Given the description of an element on the screen output the (x, y) to click on. 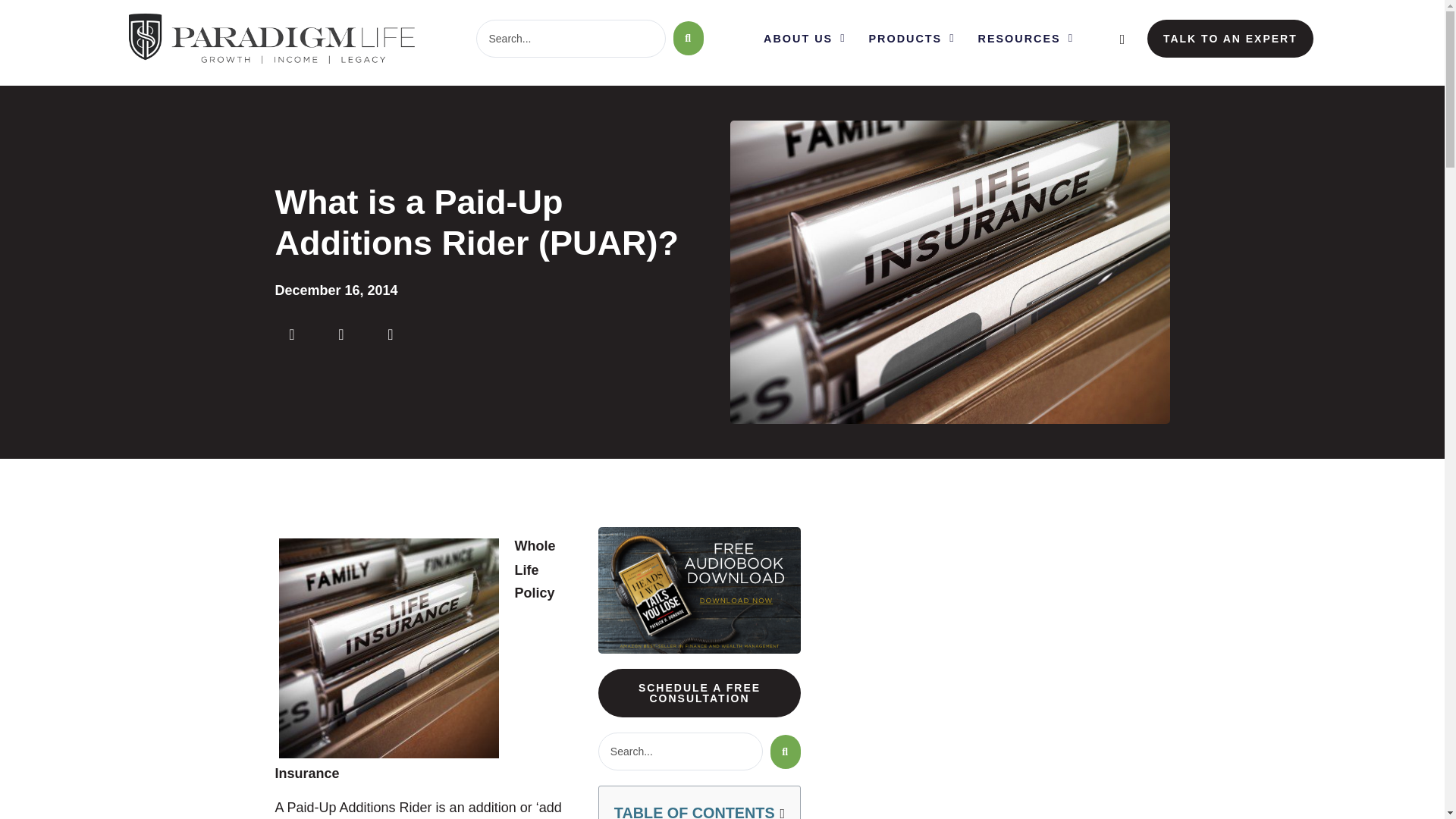
PRODUCTS (911, 38)
RESOURCES (1024, 38)
ABOUT US (804, 38)
